Given the description of an element on the screen output the (x, y) to click on. 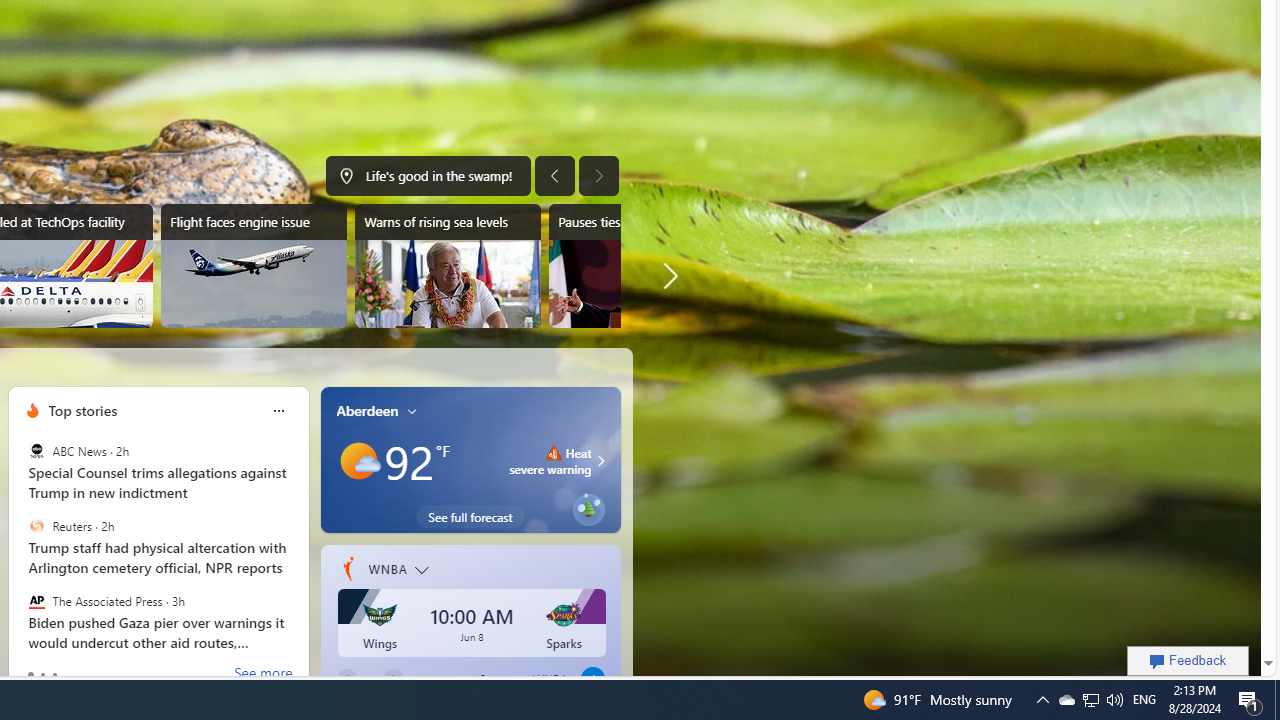
Warns of rising sea levels (447, 265)
Class: weather-arrow-glyph (600, 461)
More options (278, 410)
previous (18, 538)
Class: eplant-bubble (588, 509)
Heat - Severe Heat severe warning (550, 460)
Mostly sunny (358, 461)
Next (393, 678)
tab-1 (41, 674)
Previous image (553, 175)
Wings 10:00 AM Jun 8 Sparks (471, 622)
